Given the description of an element on the screen output the (x, y) to click on. 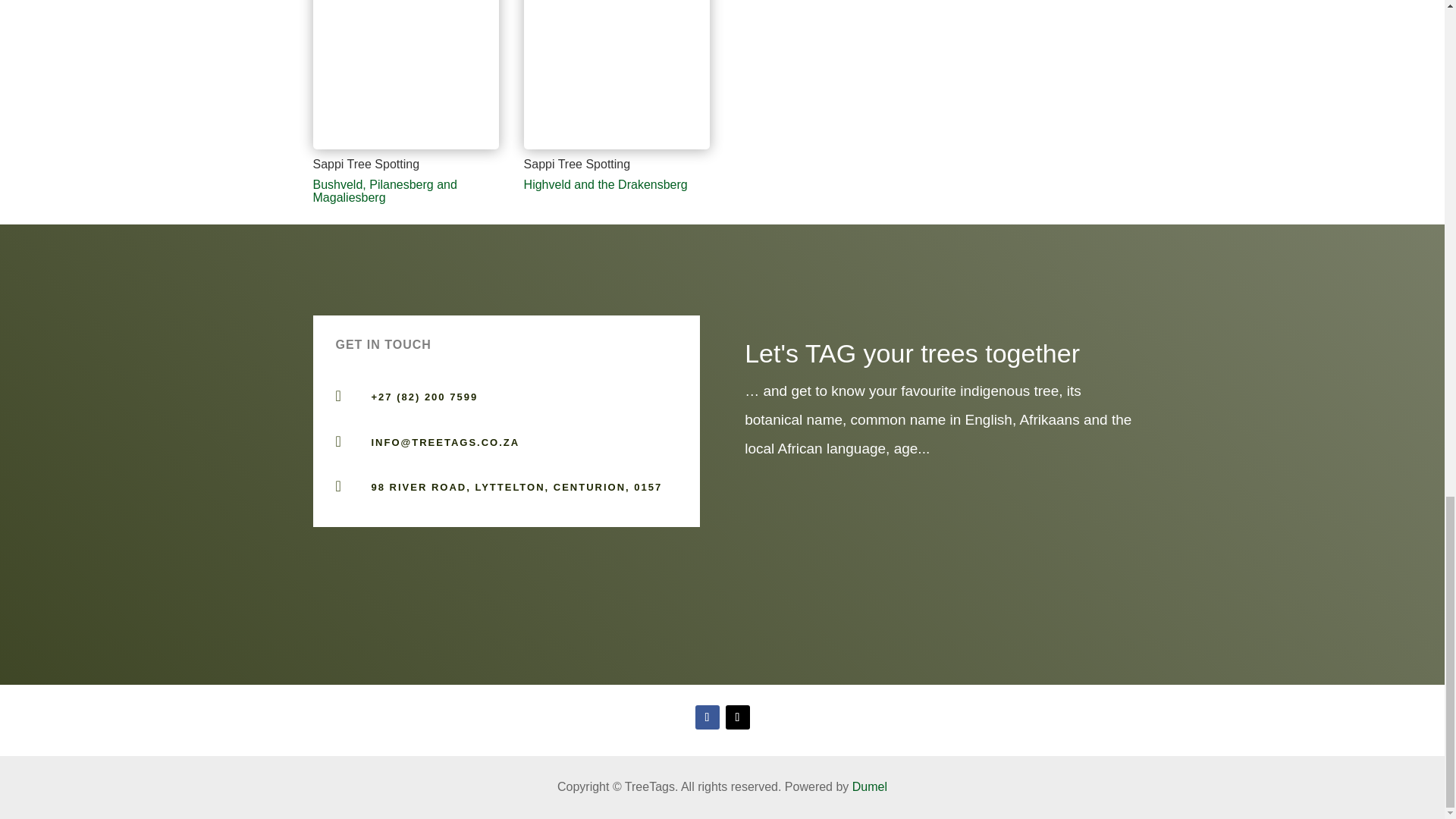
Sappi Tree Spotting (406, 148)
